Given the description of an element on the screen output the (x, y) to click on. 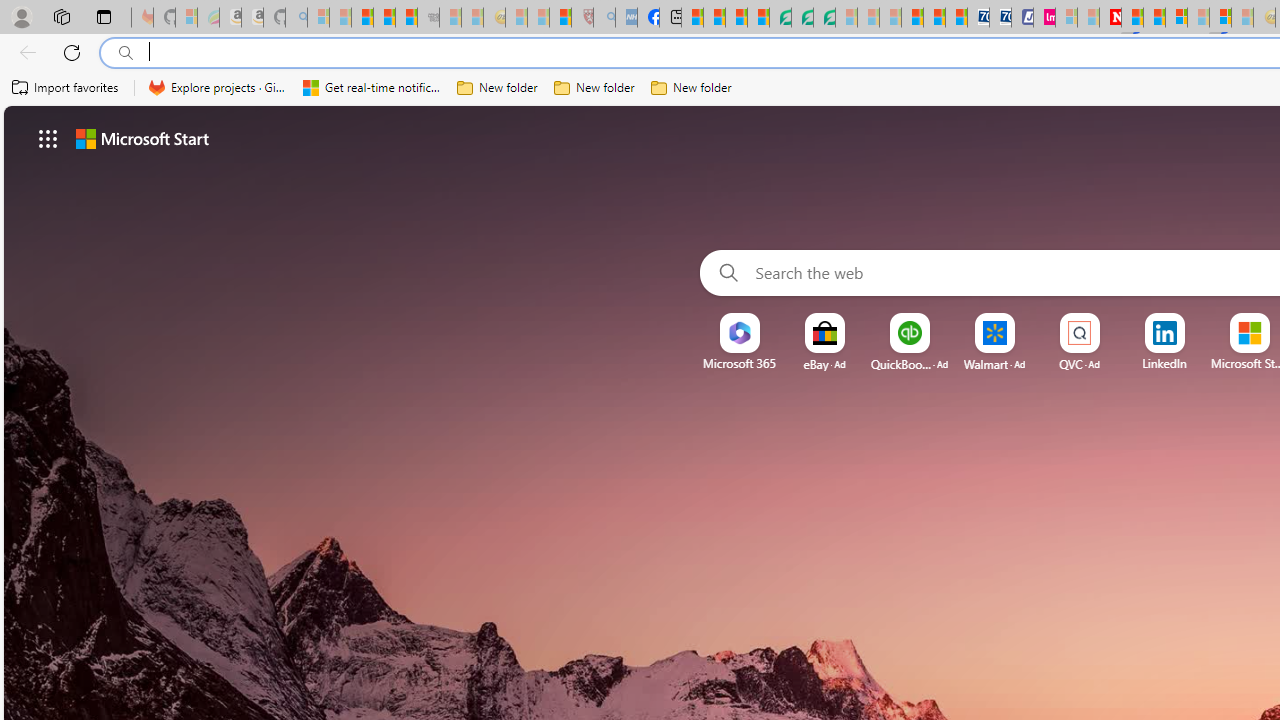
Trusted Community Engagement and Contributions | Guidelines (1132, 17)
Local - MSN (560, 17)
